Given the description of an element on the screen output the (x, y) to click on. 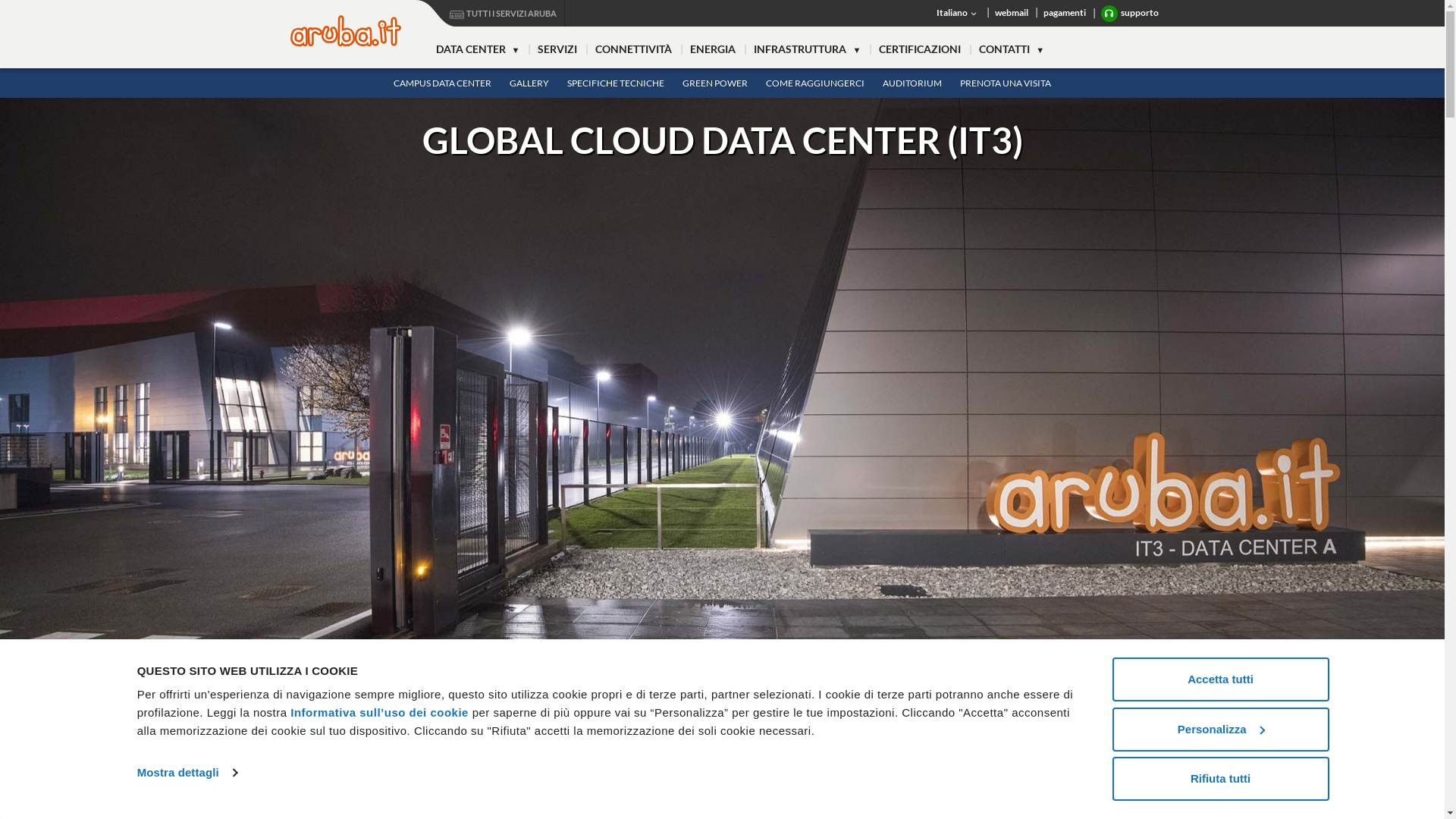
GALLERY Element type: text (529, 82)
GREEN POWER Element type: text (714, 82)
SPECIFICHE TECNICHE Element type: text (615, 82)
DATA CENTER Element type: text (477, 49)
webmail Element type: text (1011, 12)
TUTTI I SERVIZI ARUBA Element type: text (489, 13)
Home Element type: hover (344, 30)
 supporto Element type: text (1129, 13)
Italiano   Element type: text (957, 12)
INFRASTRUTTURA Element type: text (806, 49)
CAMPUS DATA CENTER Element type: text (442, 82)
pagamenti Element type: text (1064, 12)
CONTATTI Element type: text (1011, 49)
Accetta tutti Element type: text (1219, 679)
Personalizza Element type: text (1219, 728)
ENERGIA Element type: text (712, 49)
AUDITORIUM Element type: text (911, 82)
PRENOTA UNA VISITA Element type: text (1005, 82)
CERTIFICAZIONI Element type: text (919, 49)
Mostra dettagli Element type: text (187, 772)
Rifiuta tutti Element type: text (1219, 778)
SERVIZI Element type: text (557, 49)
COME RAGGIUNGERCI Element type: text (814, 82)
